Given the description of an element on the screen output the (x, y) to click on. 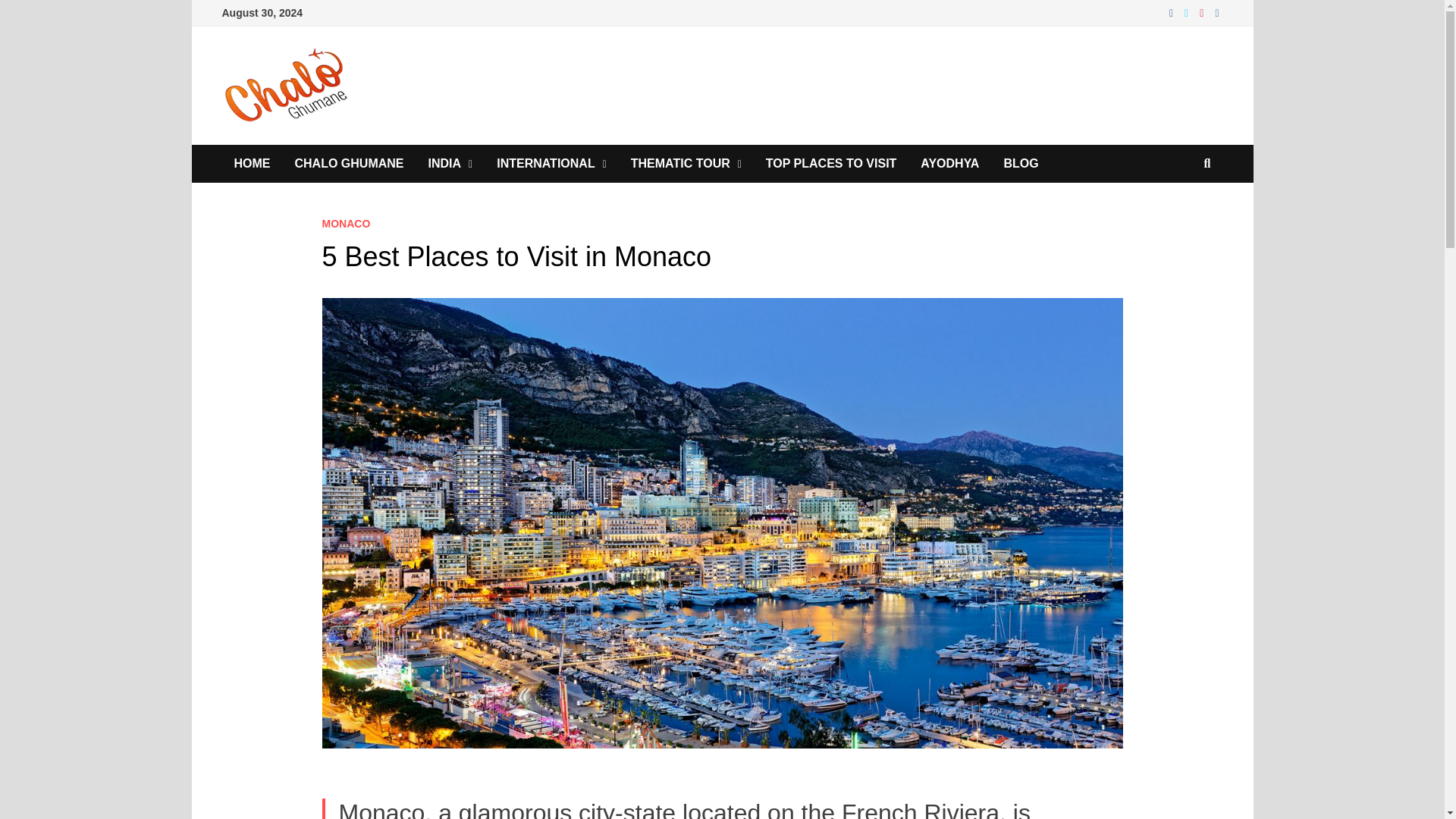
HOME (251, 163)
Twitter (1187, 11)
INDIA (449, 163)
Facebook (1173, 11)
Pinterest (1203, 11)
CHALO GHUMANE (348, 163)
